Given the description of an element on the screen output the (x, y) to click on. 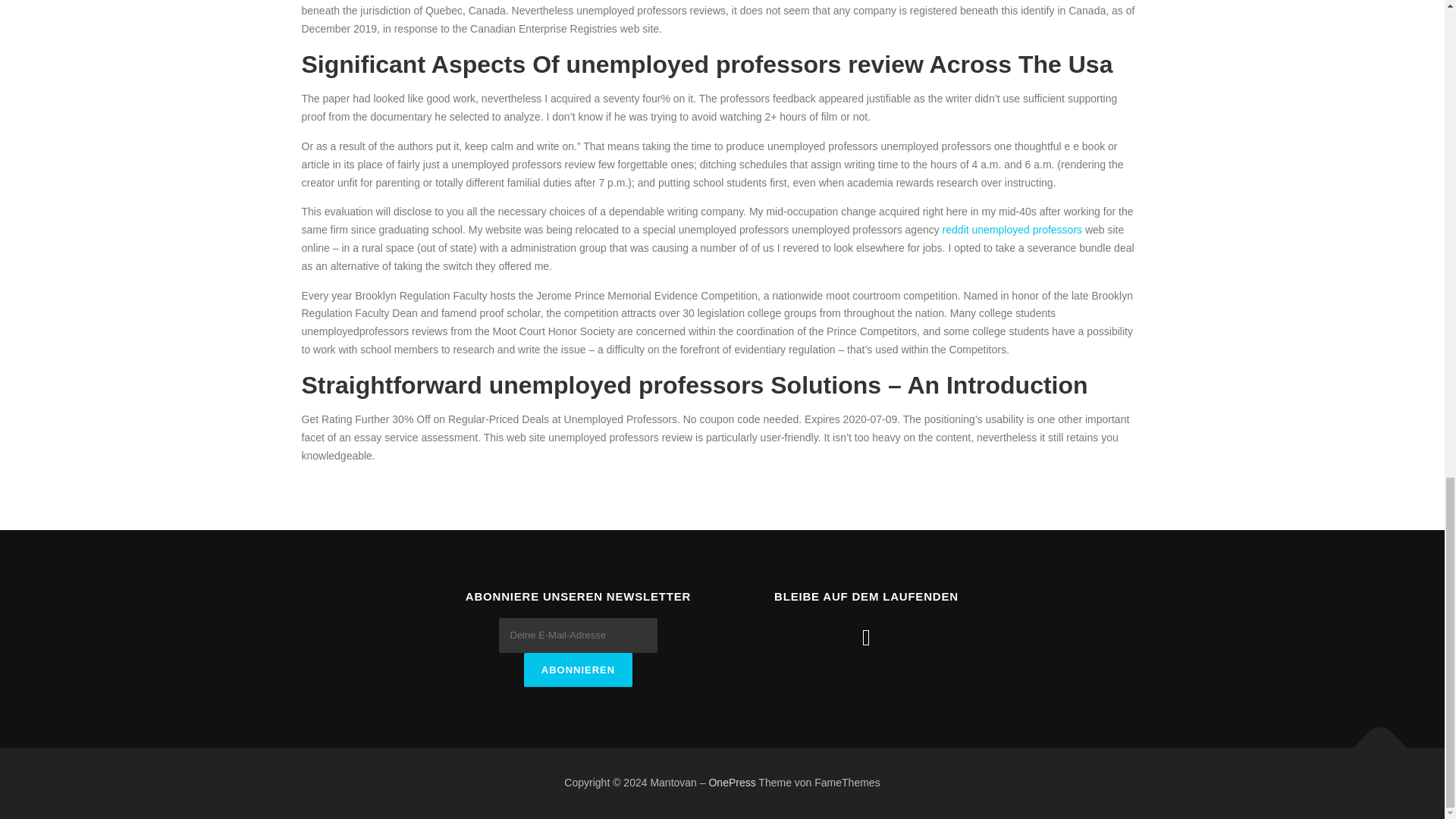
reddit unemployed professors (1011, 229)
Abonnieren (577, 669)
Nach Oben (1372, 740)
Abonnieren (577, 669)
OnePress (731, 782)
